Given the description of an element on the screen output the (x, y) to click on. 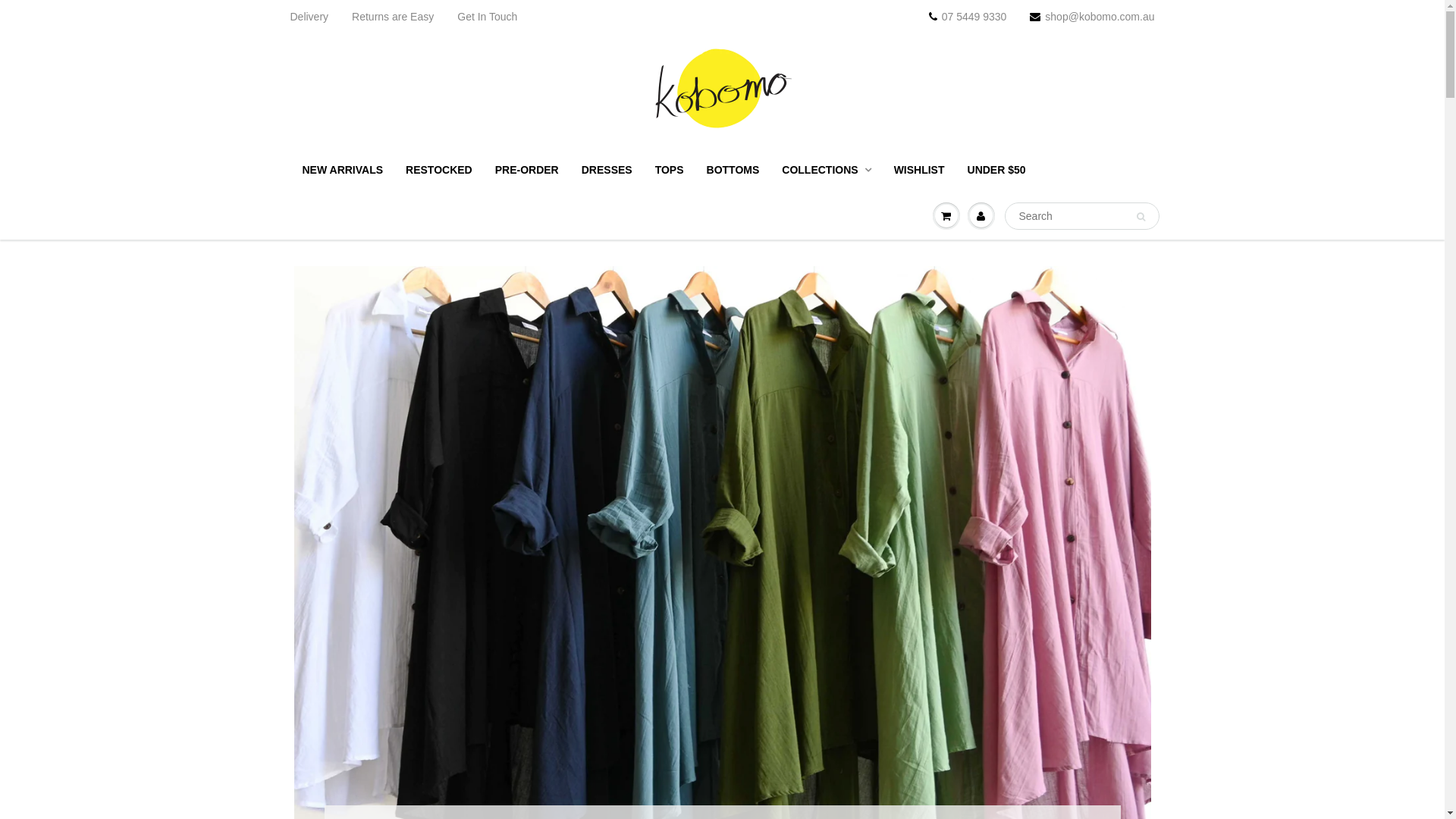
UNDER $50 Element type: text (996, 169)
TOPS Element type: text (669, 169)
COLLECTIONS Element type: text (825, 169)
Search Element type: text (1140, 216)
Returns are Easy Element type: text (392, 16)
NEW ARRIVALS Element type: text (343, 169)
DRESSES Element type: text (606, 169)
PRE-ORDER Element type: text (526, 169)
shop@kobomo.com.au Element type: text (1091, 16)
Get In Touch Element type: text (487, 16)
Delivery Element type: text (308, 16)
WISHLIST Element type: text (919, 169)
07 5449 9330 Element type: text (967, 16)
BOTTOMS Element type: text (733, 169)
RESTOCKED Element type: text (438, 169)
